Given the description of an element on the screen output the (x, y) to click on. 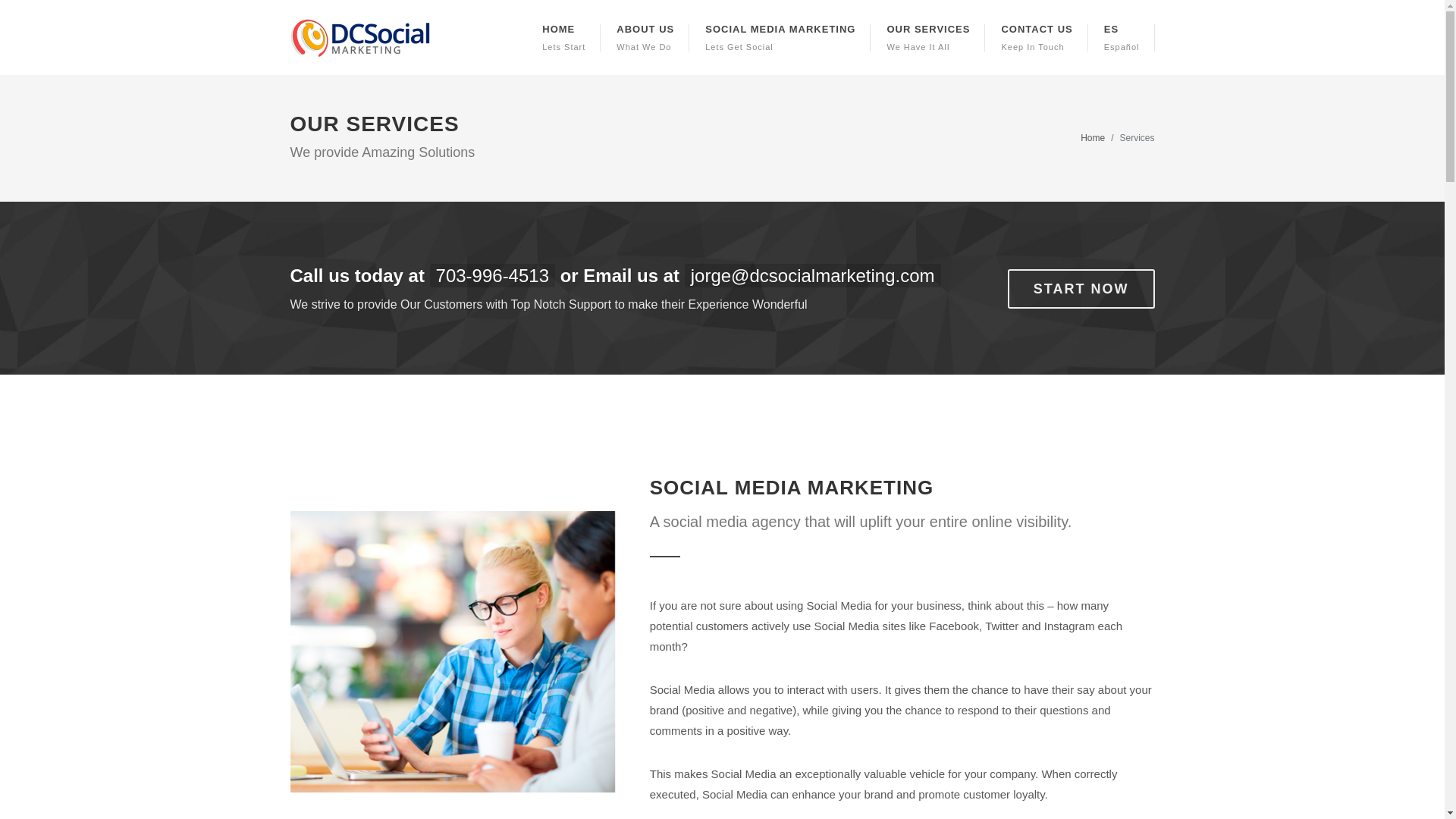
Home (644, 38)
START NOW (927, 38)
